Given the description of an element on the screen output the (x, y) to click on. 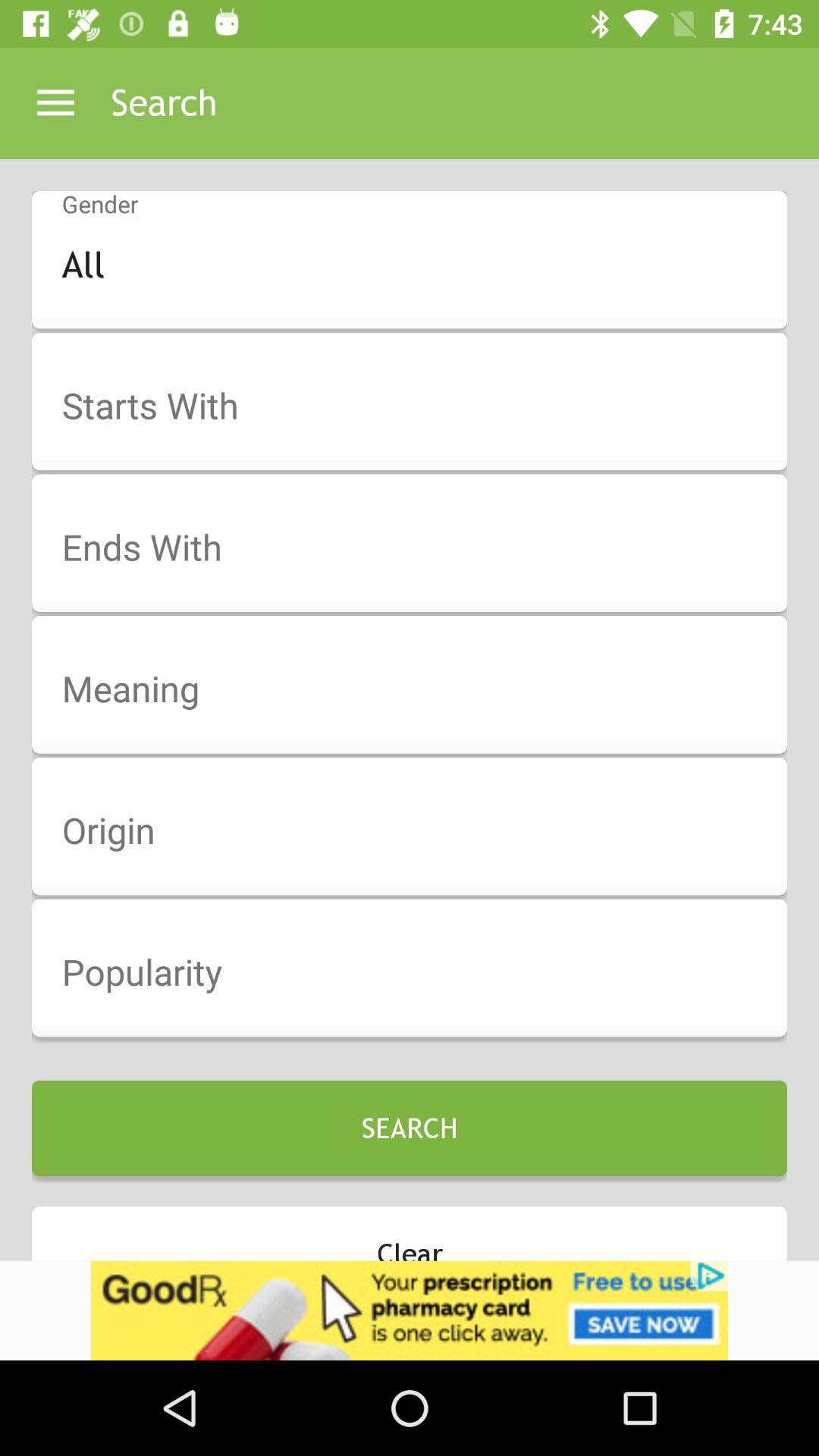
switch autoplay option (419, 548)
